Given the description of an element on the screen output the (x, y) to click on. 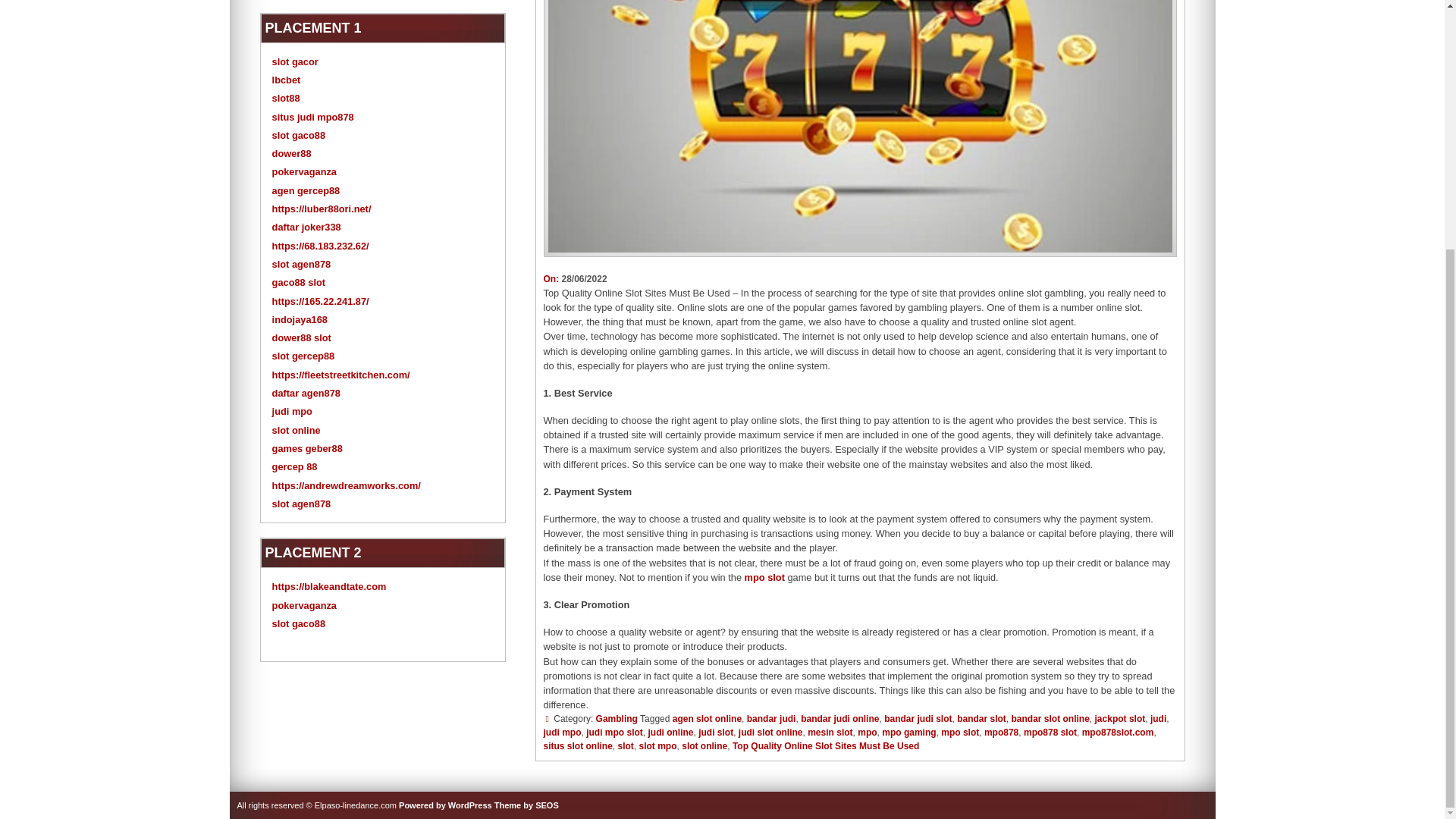
judi online (670, 732)
slot88 (285, 98)
Ibcbet (286, 79)
judi slot online (770, 732)
agen slot online (706, 718)
bandar judi slot (917, 718)
gaco88 slot (298, 282)
slot agen878 (301, 264)
bandar judi (771, 718)
Top Quality Online Slot Sites Must Be Used (825, 746)
mpo gaming (909, 732)
bandar slot (981, 718)
indojaya168 (299, 319)
judi mpo (561, 732)
situs judi mpo878 (312, 116)
